Given the description of an element on the screen output the (x, y) to click on. 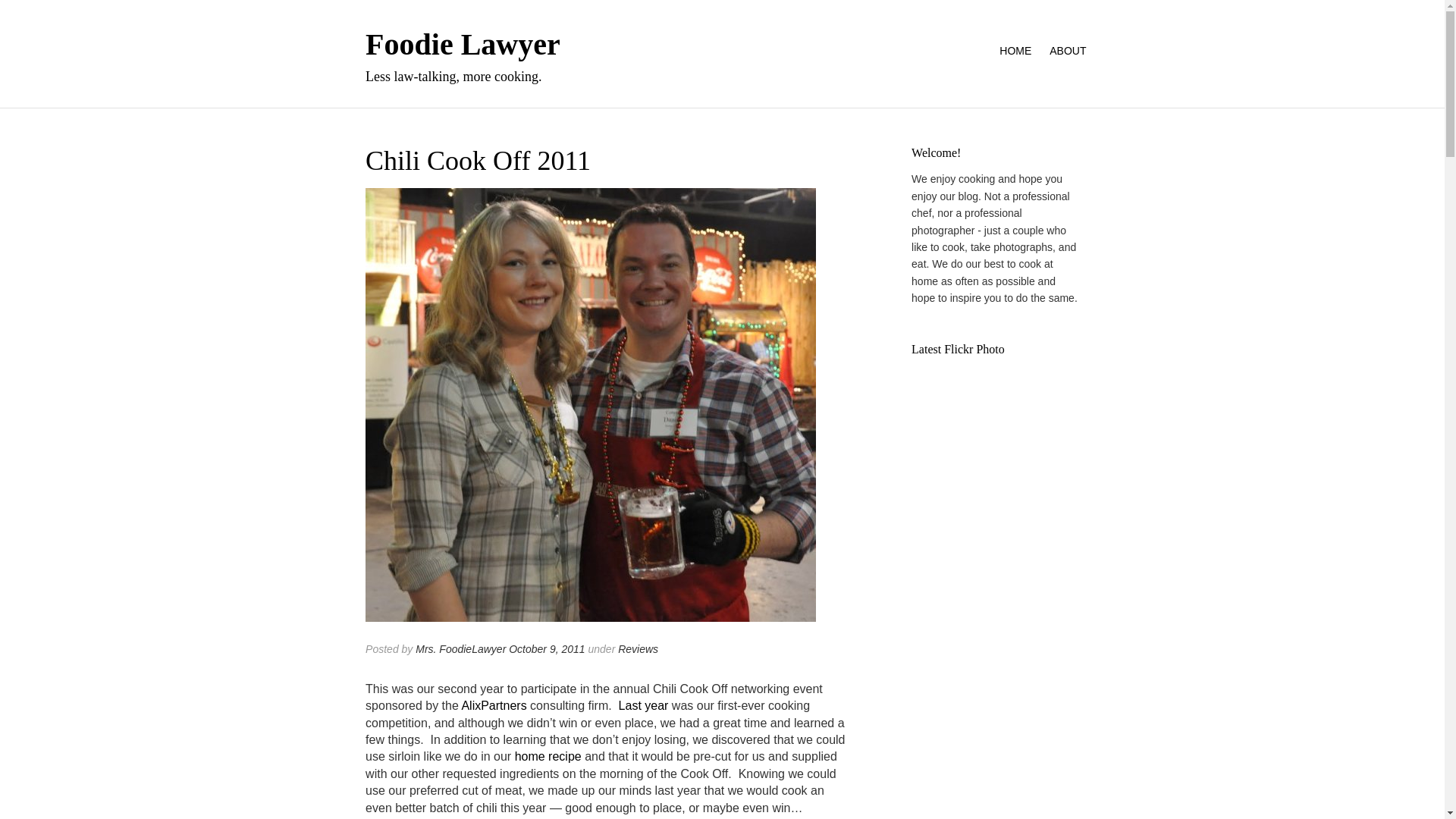
HOME (1015, 51)
ABOUT (1063, 51)
Foodie Lawyer (462, 44)
Posts by Mrs. FoodieLawyer (459, 648)
Mrs. FoodieLawyer (459, 648)
Foodie Lawyer (462, 44)
AlixPartners (493, 705)
Last year (643, 705)
October 9, 2011 (546, 648)
home recipe (547, 756)
Reviews (637, 648)
Chili Cook Off 2011 (590, 413)
